Given the description of an element on the screen output the (x, y) to click on. 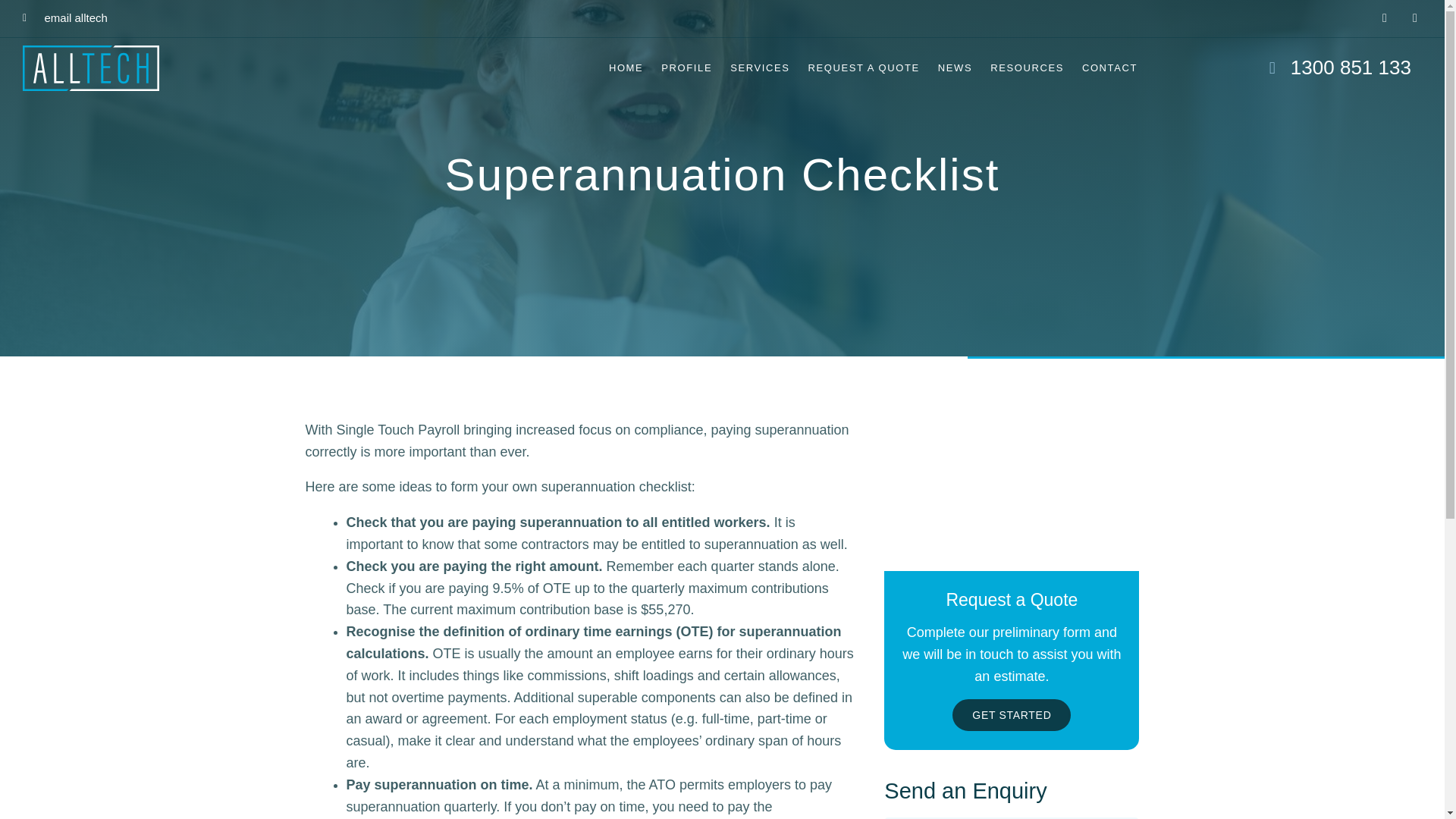
1300 851 133 (1282, 67)
NEWS (954, 68)
SERVICES (758, 68)
HOME (625, 68)
RESOURCES (1027, 68)
PROFILE (686, 68)
email alltech (65, 18)
REQUEST A QUOTE (862, 68)
CONTACT (1110, 68)
